Given the description of an element on the screen output the (x, y) to click on. 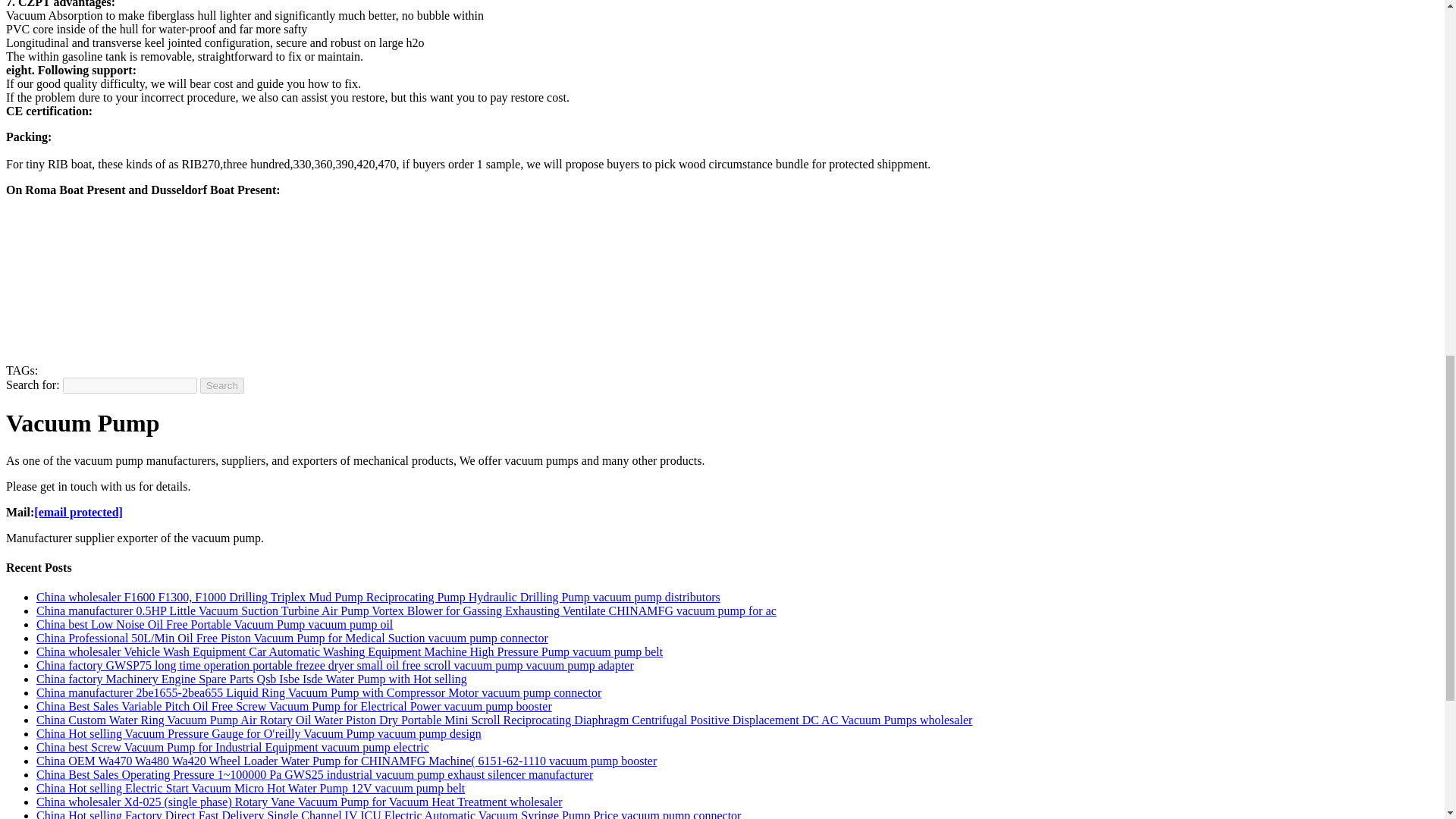
Search (222, 385)
Search (222, 385)
